Given the description of an element on the screen output the (x, y) to click on. 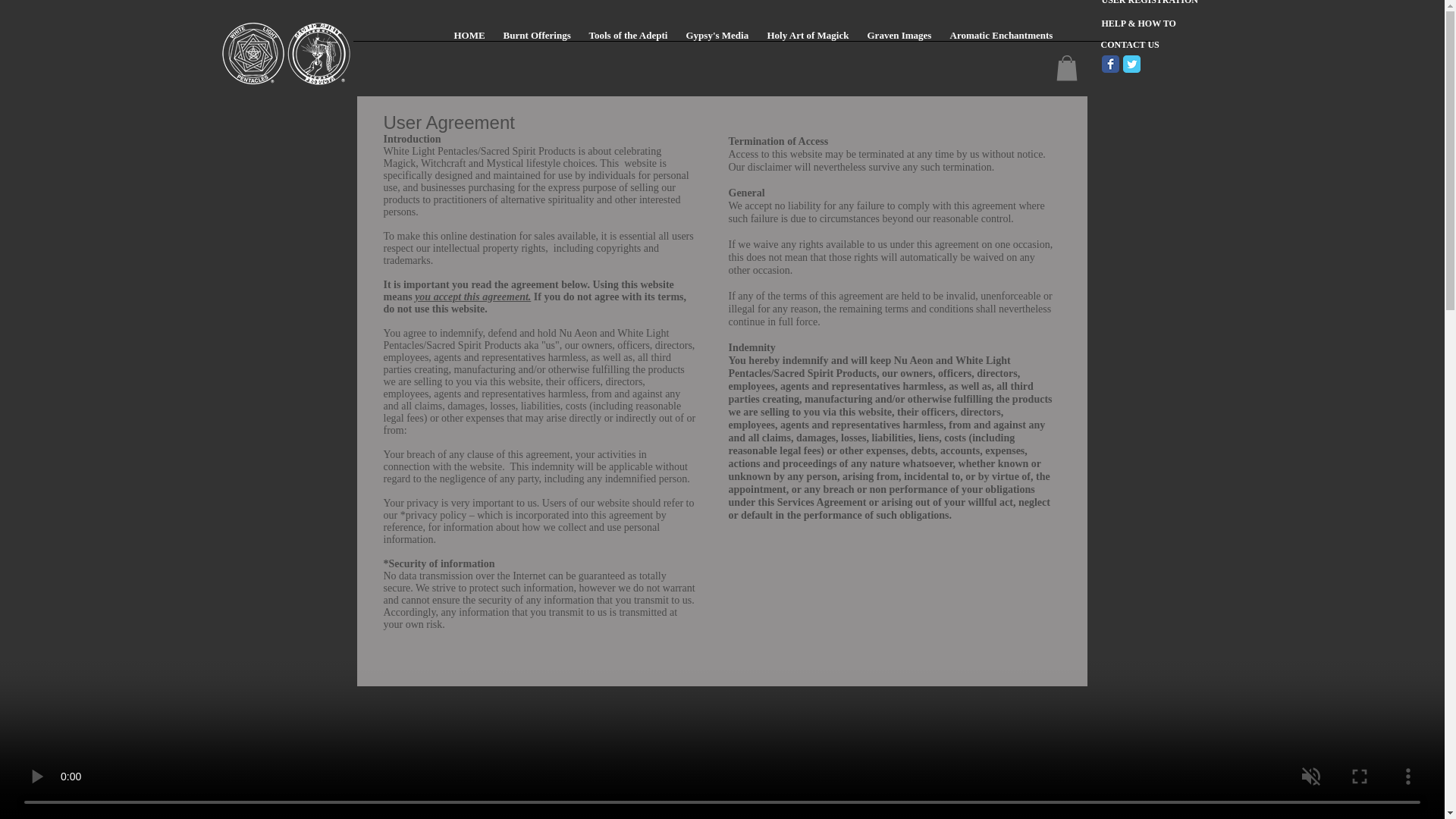
Graven Images (899, 39)
Holy Art of Magick (808, 39)
HOME (468, 39)
USER REGISTRATION (1157, 5)
Tools of the Adepti (628, 39)
Burnt Offerings (537, 39)
Gypsy's Media (717, 39)
CONTACT US (1149, 44)
